Given the description of an element on the screen output the (x, y) to click on. 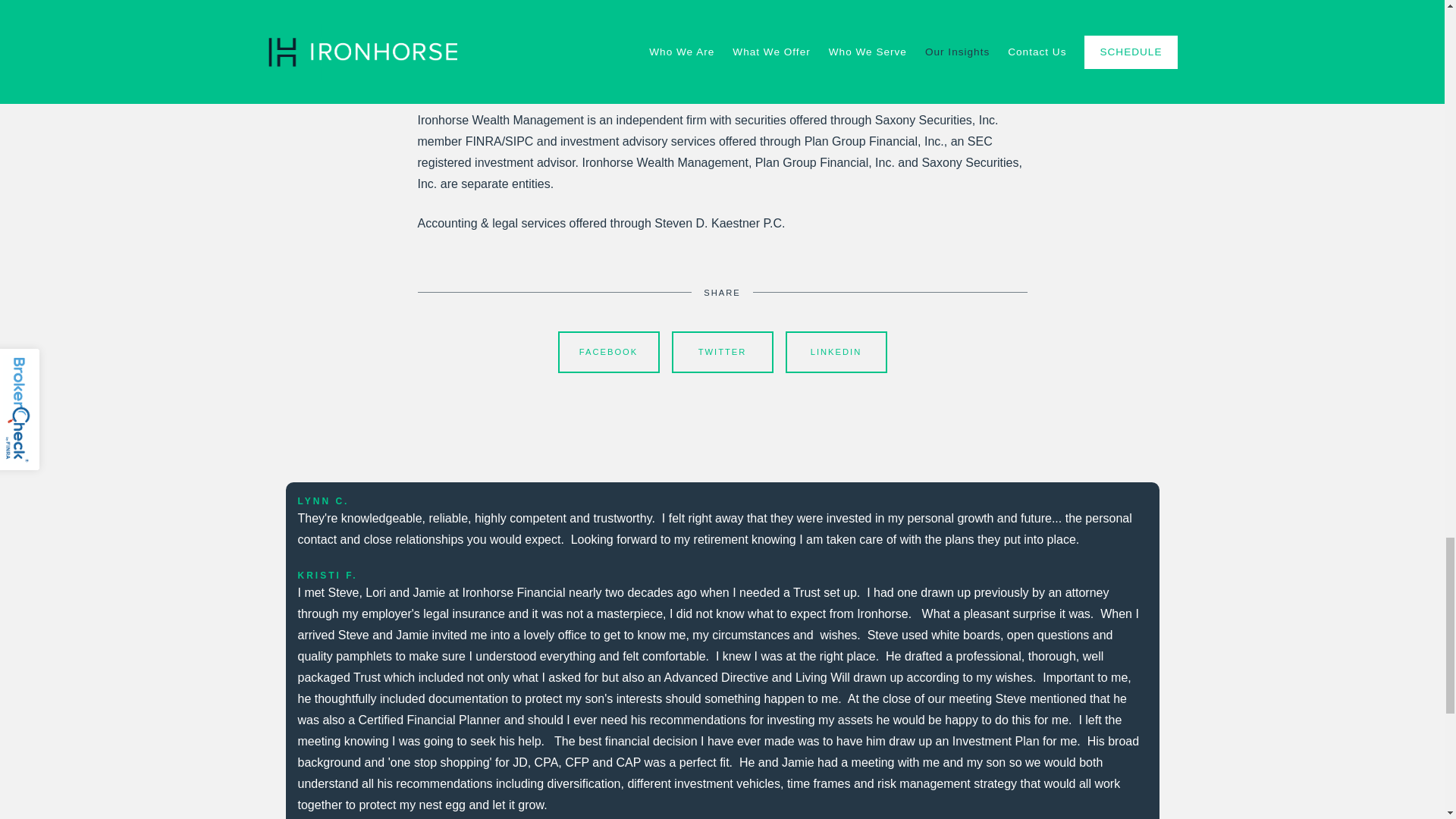
FACEBOOK (608, 352)
TWITTER (722, 352)
LINKEDIN (836, 352)
